Given the description of an element on the screen output the (x, y) to click on. 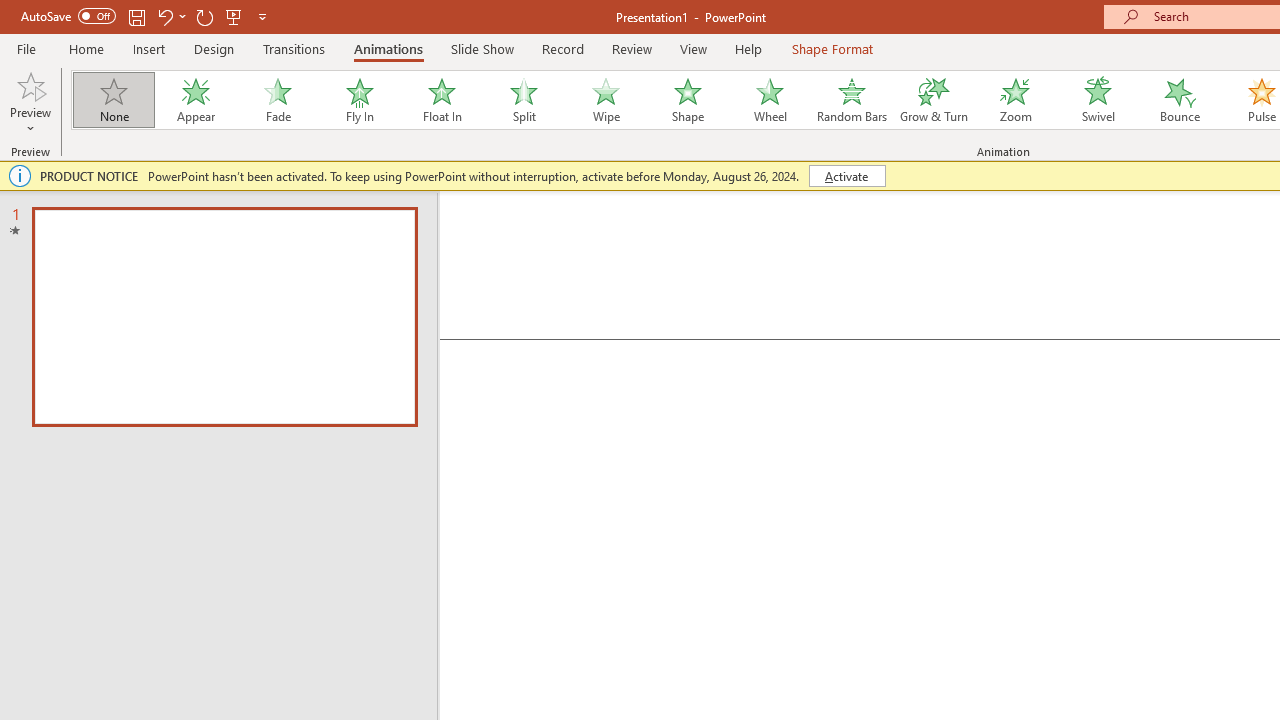
Shape Format (832, 48)
Swivel (1098, 100)
Bounce (1180, 100)
Float In (441, 100)
Split (523, 100)
Shape (687, 100)
